Given the description of an element on the screen output the (x, y) to click on. 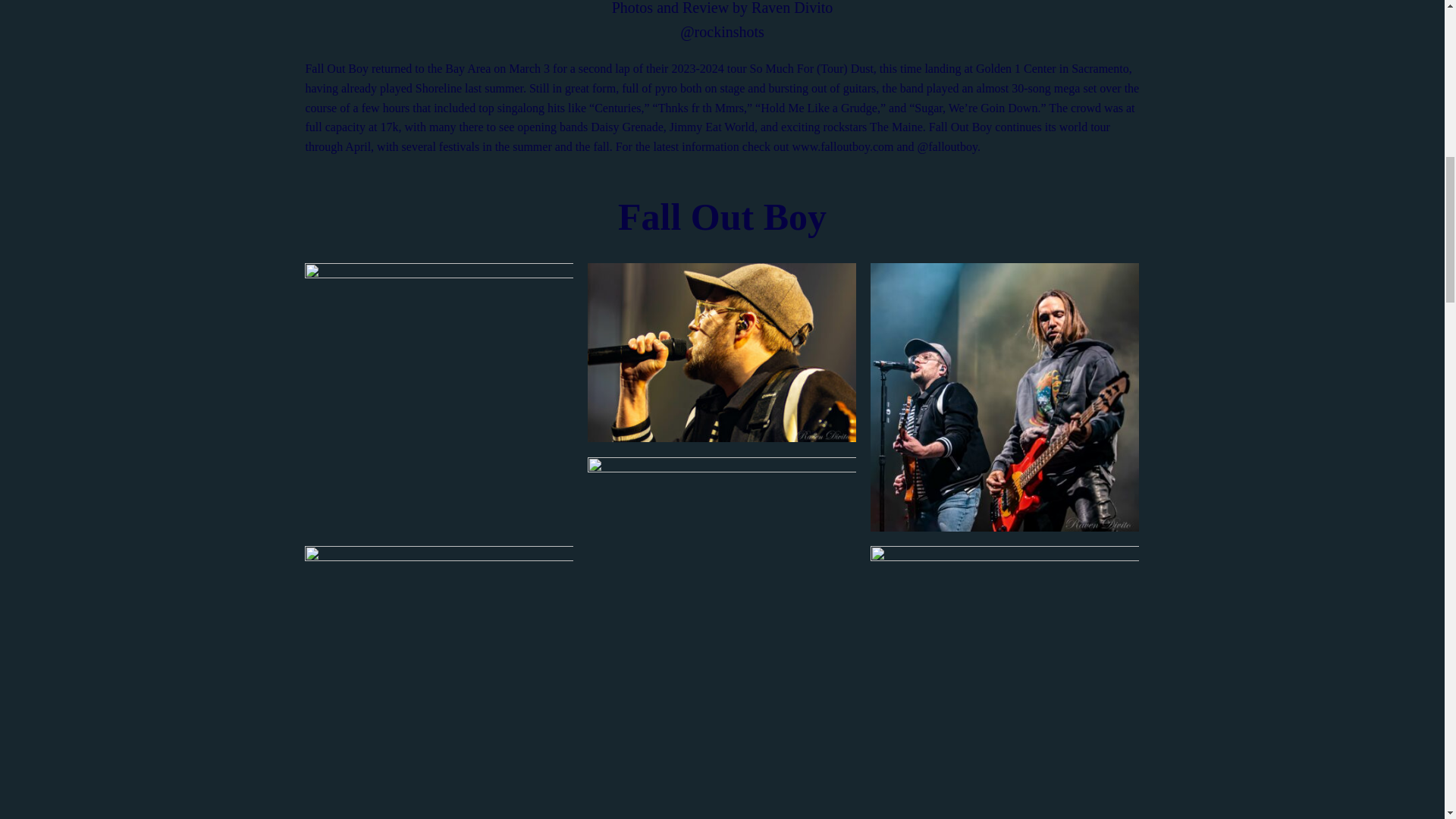
132A2241-Enhanced-NR-Edit (438, 396)
9K5A3816-Enhanced-NR (722, 735)
132A2217-Enhanced-NR-Edit (1004, 396)
132A2232-Enhanced-NR (722, 352)
www.falloutboy.com (842, 146)
132A2205-Enhanced-NR (722, 546)
9K5A3841-Enhanced-NR-Edit (438, 680)
9K5A3821-Enhanced-NR-Edit (1004, 680)
